Given the description of an element on the screen output the (x, y) to click on. 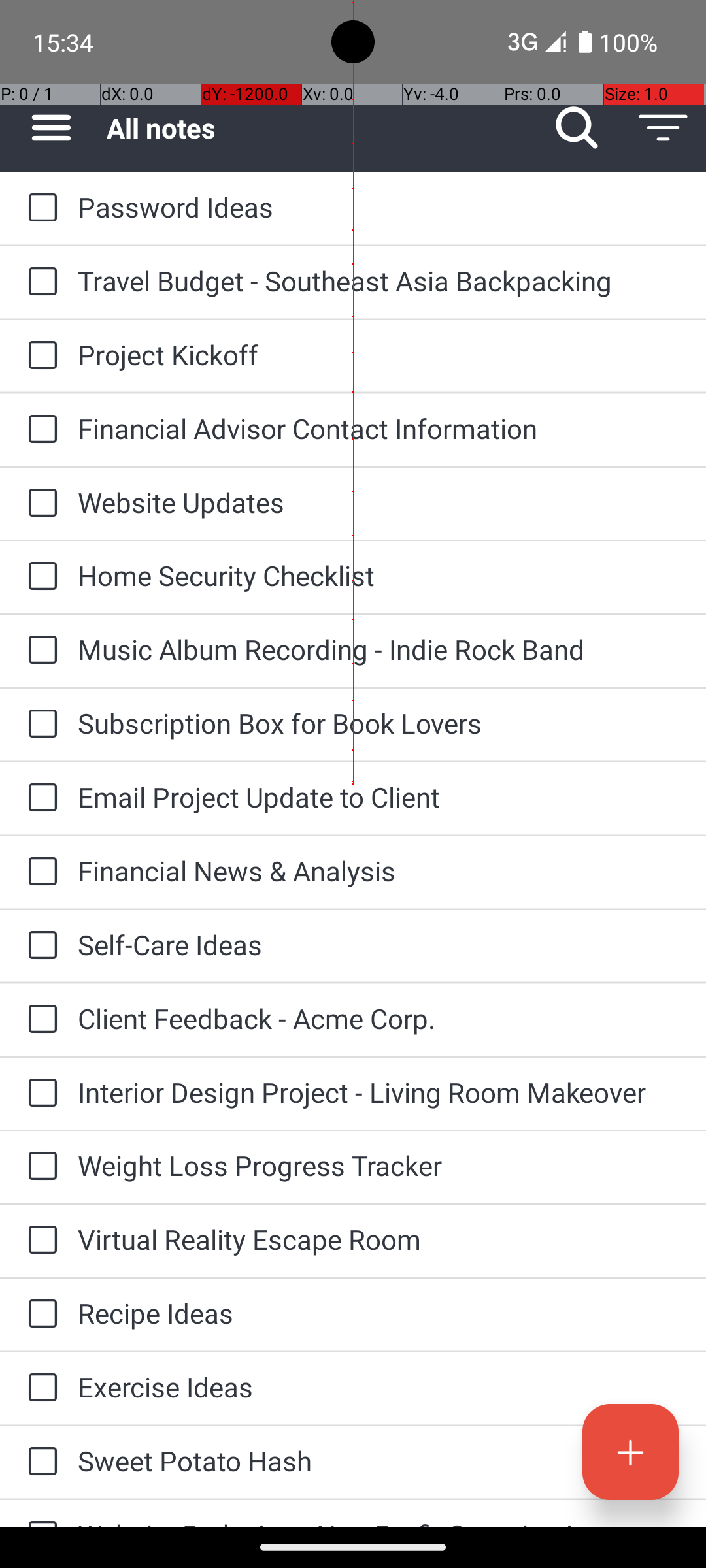
to-do: Password Ideas Element type: android.widget.CheckBox (38, 208)
Password Ideas Element type: android.widget.TextView (378, 206)
to-do: Travel Budget - Southeast Asia Backpacking Element type: android.widget.CheckBox (38, 282)
Travel Budget - Southeast Asia Backpacking Element type: android.widget.TextView (378, 280)
to-do: Project Kickoff Element type: android.widget.CheckBox (38, 356)
Project Kickoff Element type: android.widget.TextView (378, 354)
to-do: Financial Advisor Contact Information Element type: android.widget.CheckBox (38, 429)
Financial Advisor Contact Information Element type: android.widget.TextView (378, 427)
to-do: Website Updates Element type: android.widget.CheckBox (38, 503)
Website Updates Element type: android.widget.TextView (378, 501)
to-do: Home Security Checklist Element type: android.widget.CheckBox (38, 576)
Home Security Checklist Element type: android.widget.TextView (378, 574)
to-do: Music Album Recording - Indie Rock Band Element type: android.widget.CheckBox (38, 650)
Music Album Recording - Indie Rock Band Element type: android.widget.TextView (378, 648)
to-do: Subscription Box for Book Lovers Element type: android.widget.CheckBox (38, 724)
Subscription Box for Book Lovers Element type: android.widget.TextView (378, 722)
to-do: Email Project Update to Client Element type: android.widget.CheckBox (38, 798)
Email Project Update to Client Element type: android.widget.TextView (378, 796)
to-do: Financial News & Analysis Element type: android.widget.CheckBox (38, 872)
Financial News & Analysis Element type: android.widget.TextView (378, 870)
to-do: Self-Care Ideas Element type: android.widget.CheckBox (38, 945)
Self-Care Ideas Element type: android.widget.TextView (378, 944)
to-do: Client Feedback - Acme Corp. Element type: android.widget.CheckBox (38, 1019)
Client Feedback - Acme Corp. Element type: android.widget.TextView (378, 1017)
to-do: Interior Design Project - Living Room Makeover Element type: android.widget.CheckBox (38, 1093)
Interior Design Project - Living Room Makeover Element type: android.widget.TextView (378, 1091)
to-do: Weight Loss Progress Tracker Element type: android.widget.CheckBox (38, 1166)
Weight Loss Progress Tracker Element type: android.widget.TextView (378, 1164)
to-do: Virtual Reality Escape Room Element type: android.widget.CheckBox (38, 1240)
Virtual Reality Escape Room Element type: android.widget.TextView (378, 1238)
to-do: Recipe Ideas Element type: android.widget.CheckBox (38, 1314)
Recipe Ideas Element type: android.widget.TextView (378, 1312)
to-do: Exercise Ideas Element type: android.widget.CheckBox (38, 1388)
Exercise Ideas Element type: android.widget.TextView (378, 1386)
to-do: Sweet Potato Hash Element type: android.widget.CheckBox (38, 1462)
Sweet Potato Hash Element type: android.widget.TextView (378, 1460)
to-do: Website Redesign - Non-Profit Organization Element type: android.widget.CheckBox (38, 1513)
Website Redesign - Non-Profit Organization Element type: android.widget.TextView (378, 1520)
